Given the description of an element on the screen output the (x, y) to click on. 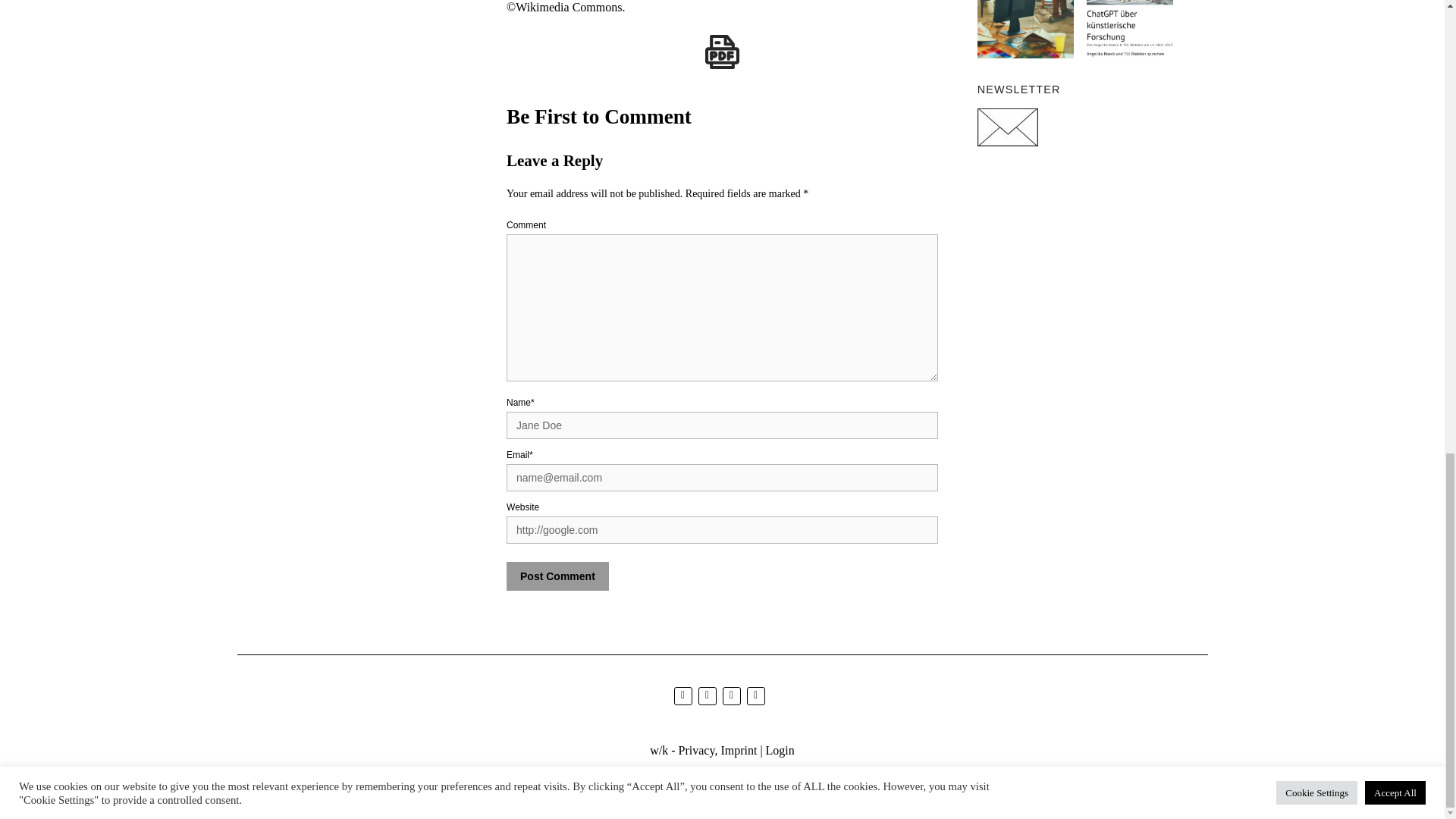
youtube (731, 695)
instagram (706, 695)
Post Comment (557, 575)
Generate PDF (721, 51)
